Given the description of an element on the screen output the (x, y) to click on. 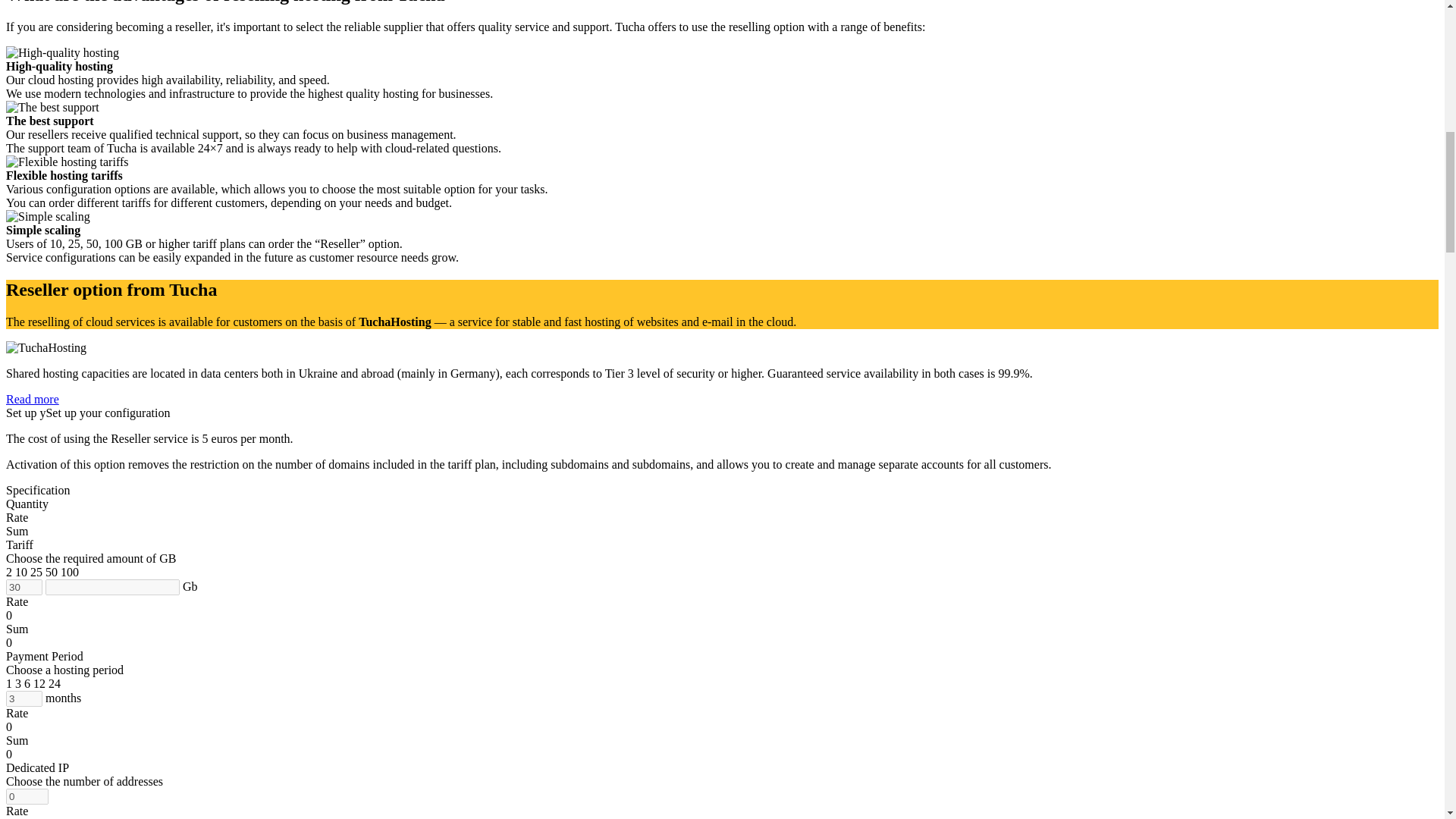
3 (23, 697)
Read more (32, 399)
30 (23, 587)
0 (26, 796)
